Given the description of an element on the screen output the (x, y) to click on. 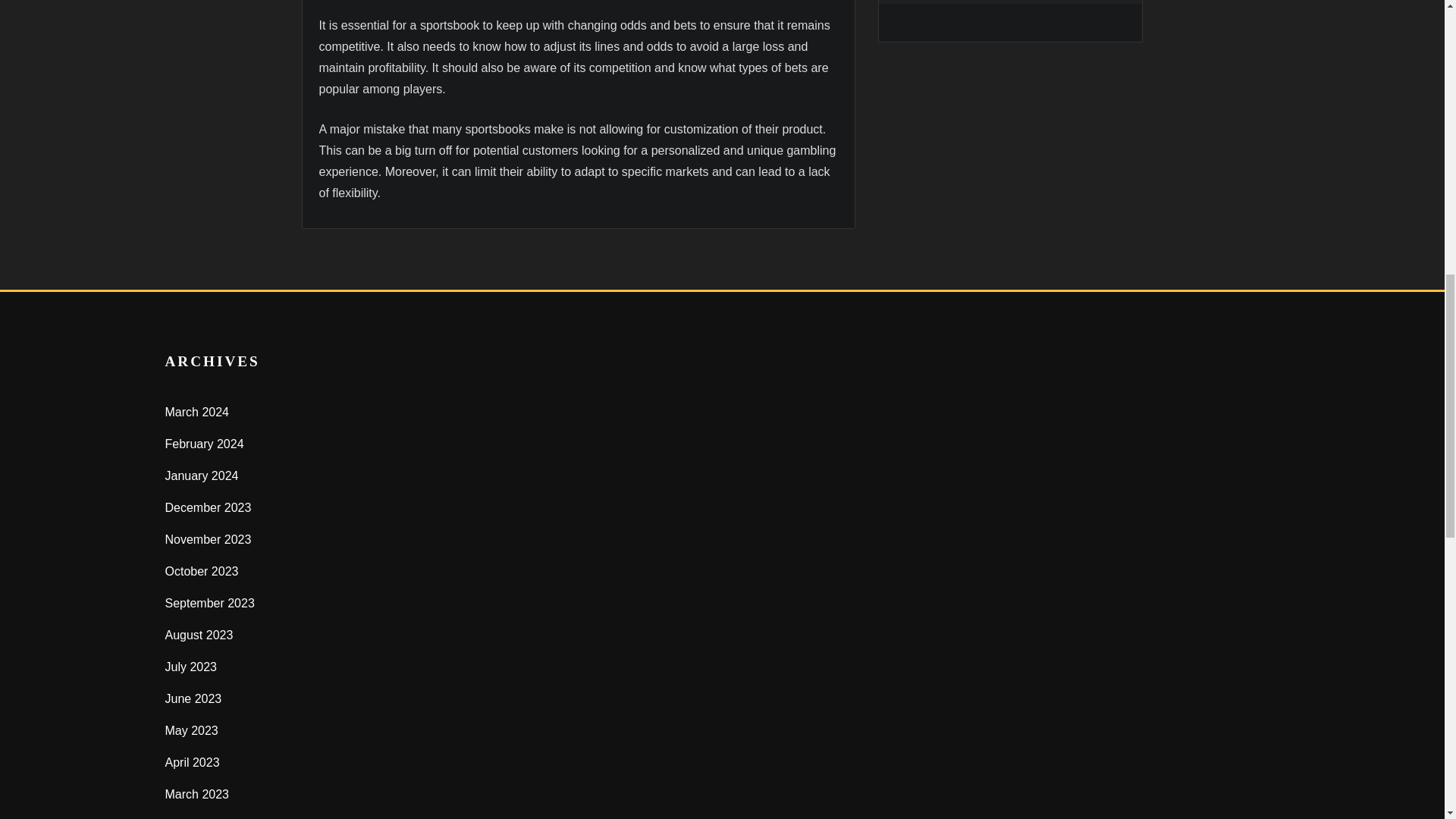
August 2023 (198, 634)
June 2023 (193, 698)
February 2024 (204, 443)
April 2023 (192, 762)
December 2023 (208, 507)
July 2023 (190, 666)
March 2024 (197, 411)
September 2023 (209, 603)
May 2023 (191, 730)
October 2023 (201, 571)
